Given the description of an element on the screen output the (x, y) to click on. 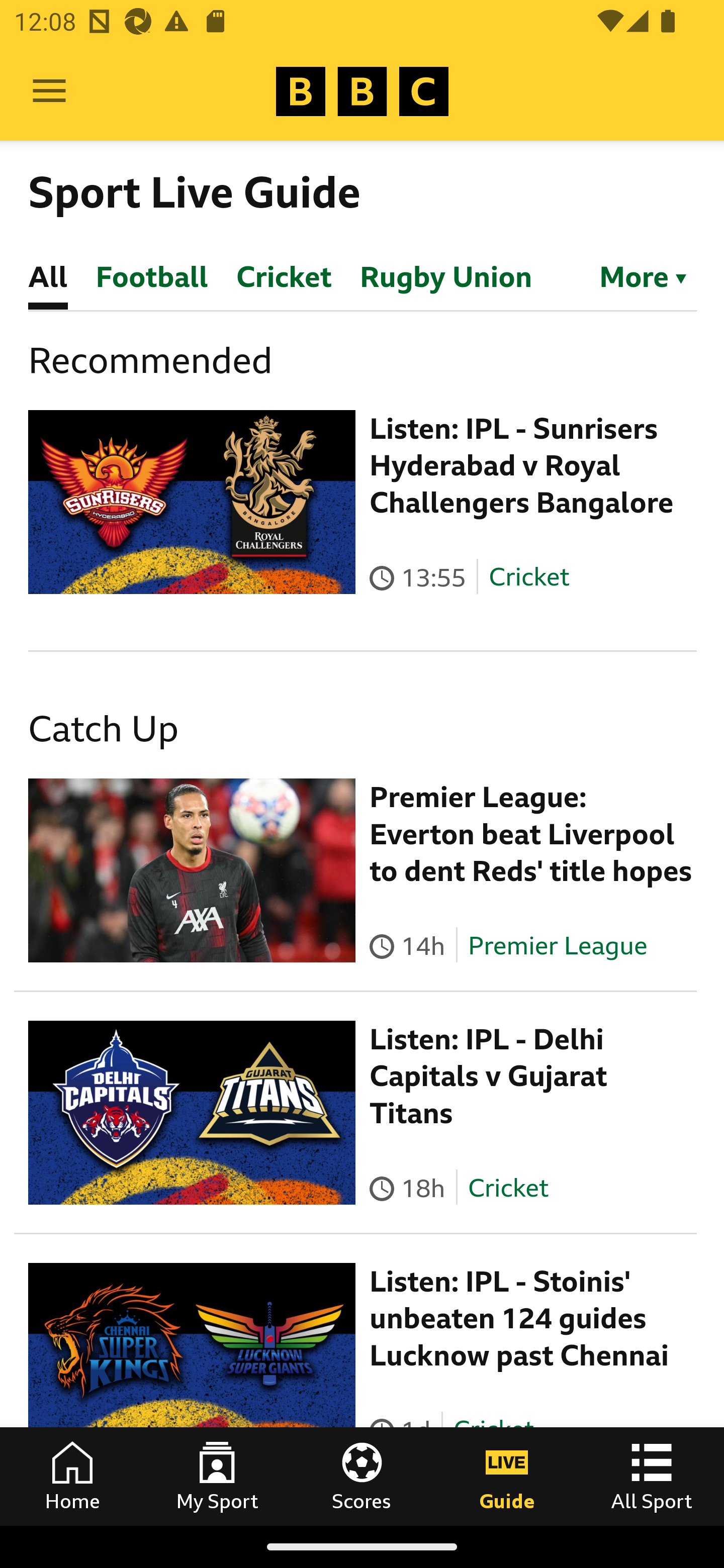
Open Menu (49, 91)
Cricket (528, 576)
Premier League (557, 945)
Listen: IPL - Delhi Capitals v Gujarat Titans (488, 1076)
Cricket (507, 1186)
Home (72, 1475)
My Sport (216, 1475)
Scores (361, 1475)
All Sport (651, 1475)
